Given the description of an element on the screen output the (x, y) to click on. 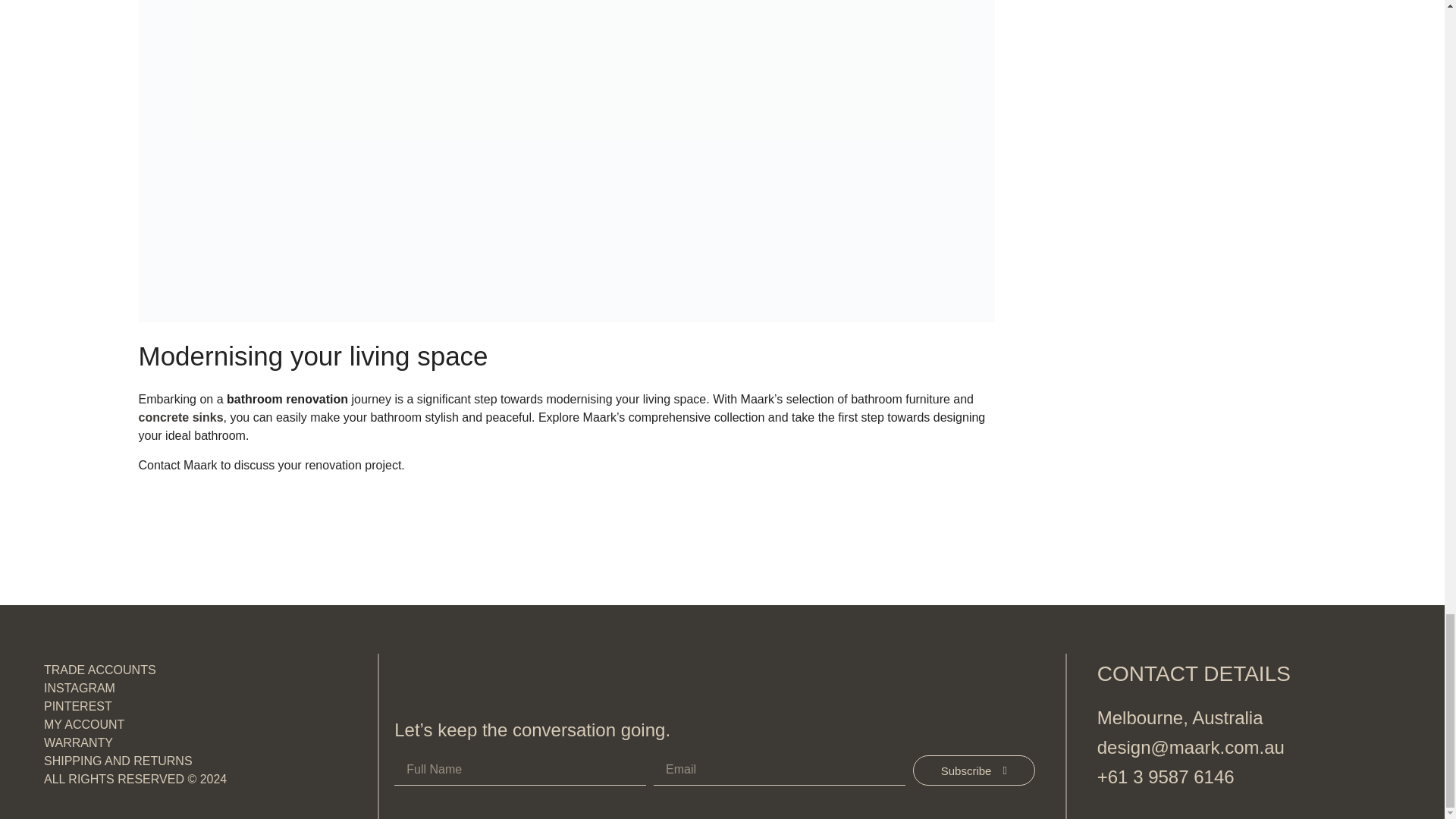
concrete sinks (180, 417)
